Given the description of an element on the screen output the (x, y) to click on. 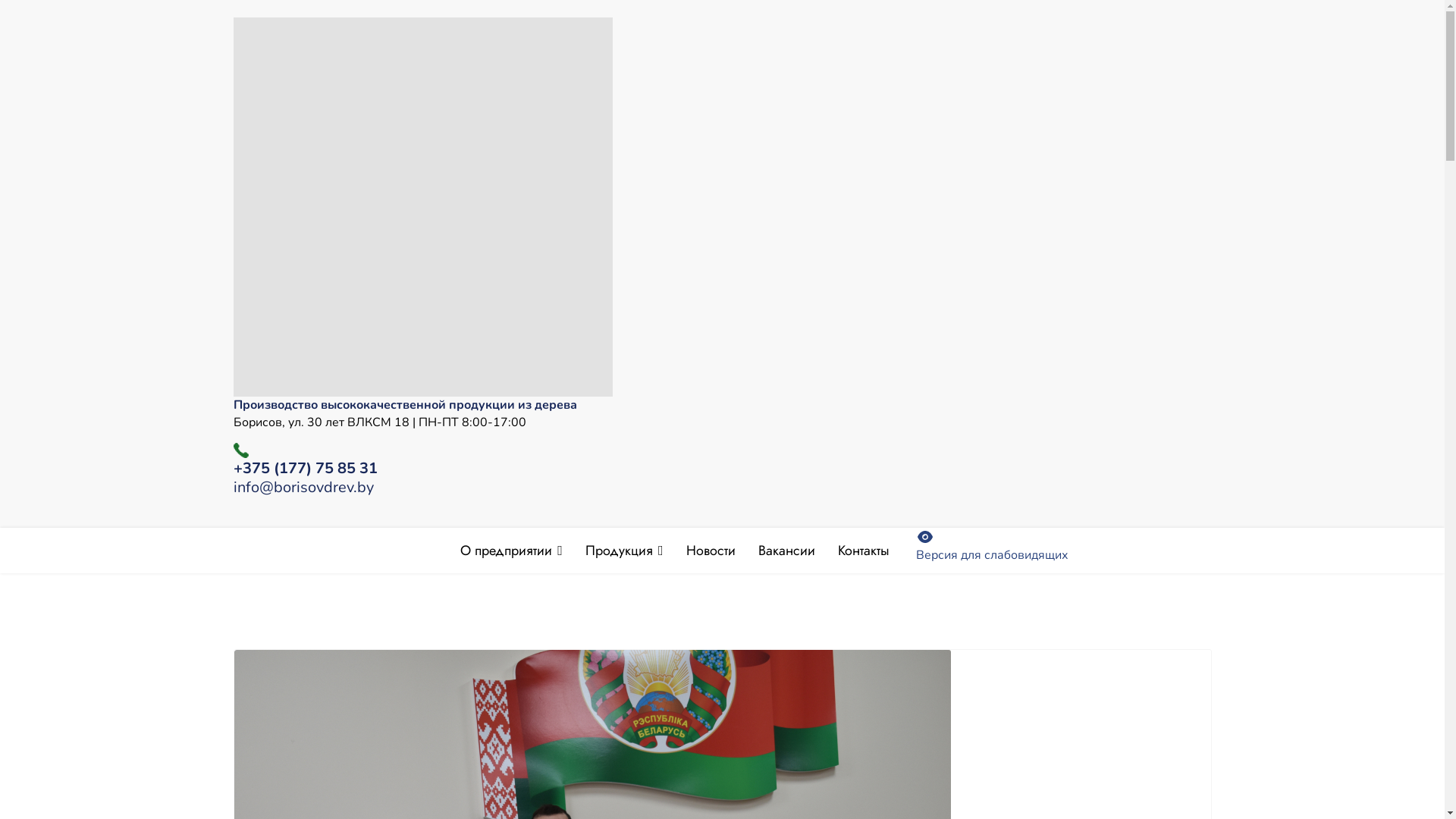
+375 (177) 75 85 31 Element type: text (305, 468)
info@borisovdrev.by Element type: text (303, 486)
